Given the description of an element on the screen output the (x, y) to click on. 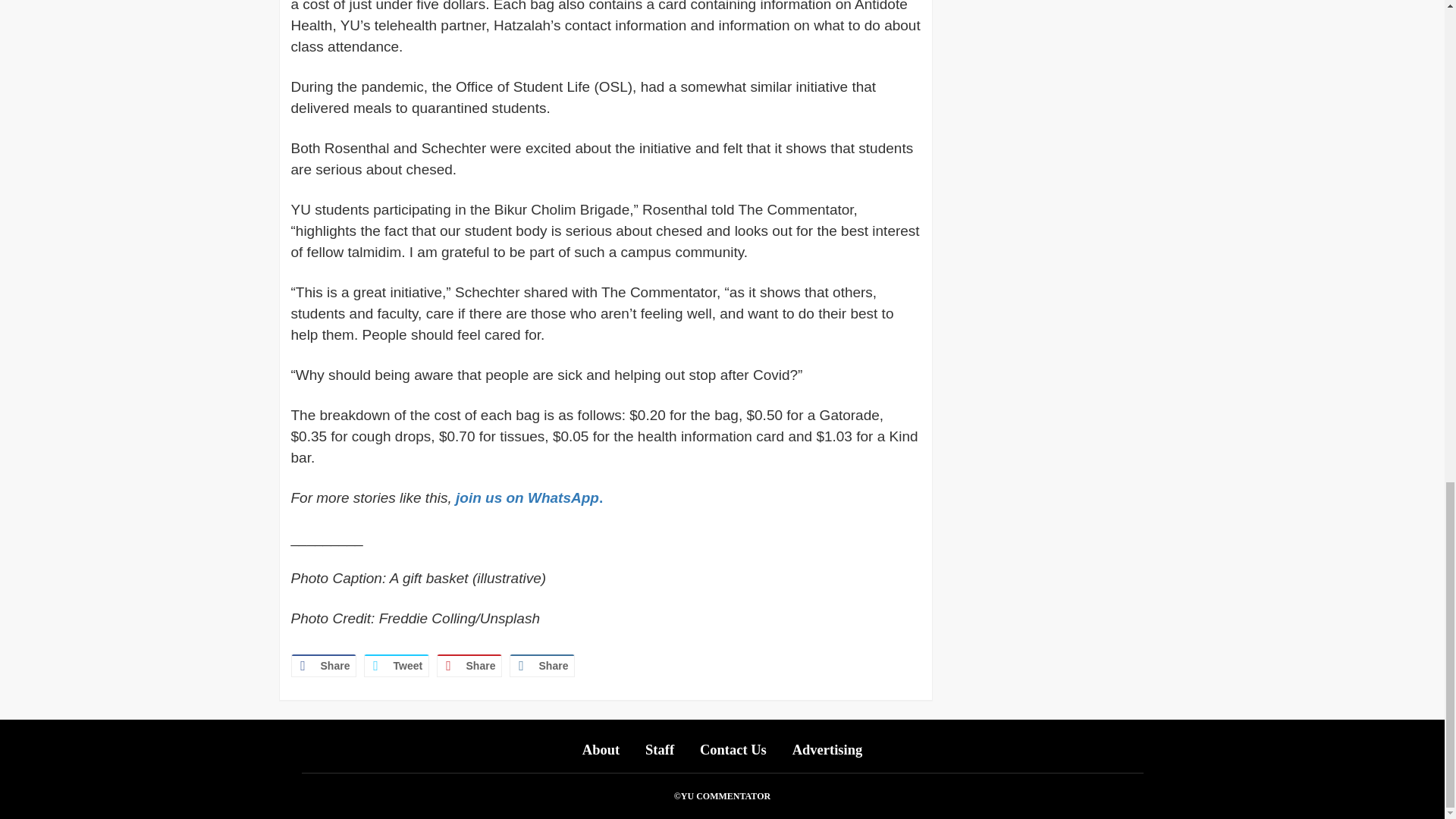
Share on LinkedIn (542, 665)
Share on Twitter (396, 665)
Share (469, 665)
Share on Pinterest (469, 665)
Tweet (396, 665)
Share on Facebook (323, 665)
Share (542, 665)
join us on WhatsApp. (528, 497)
Share (323, 665)
